Given the description of an element on the screen output the (x, y) to click on. 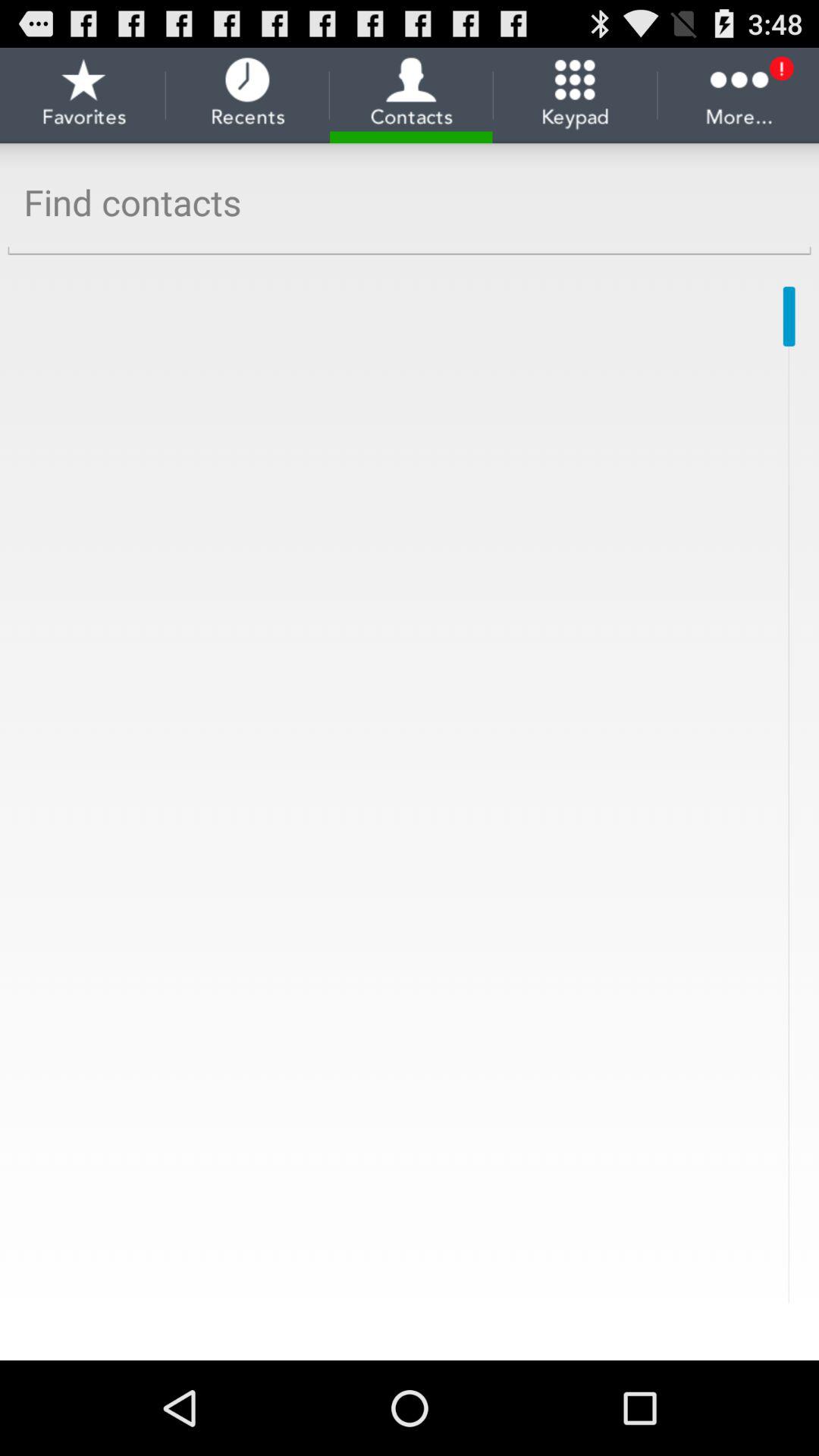
search for contacts (409, 202)
